Given the description of an element on the screen output the (x, y) to click on. 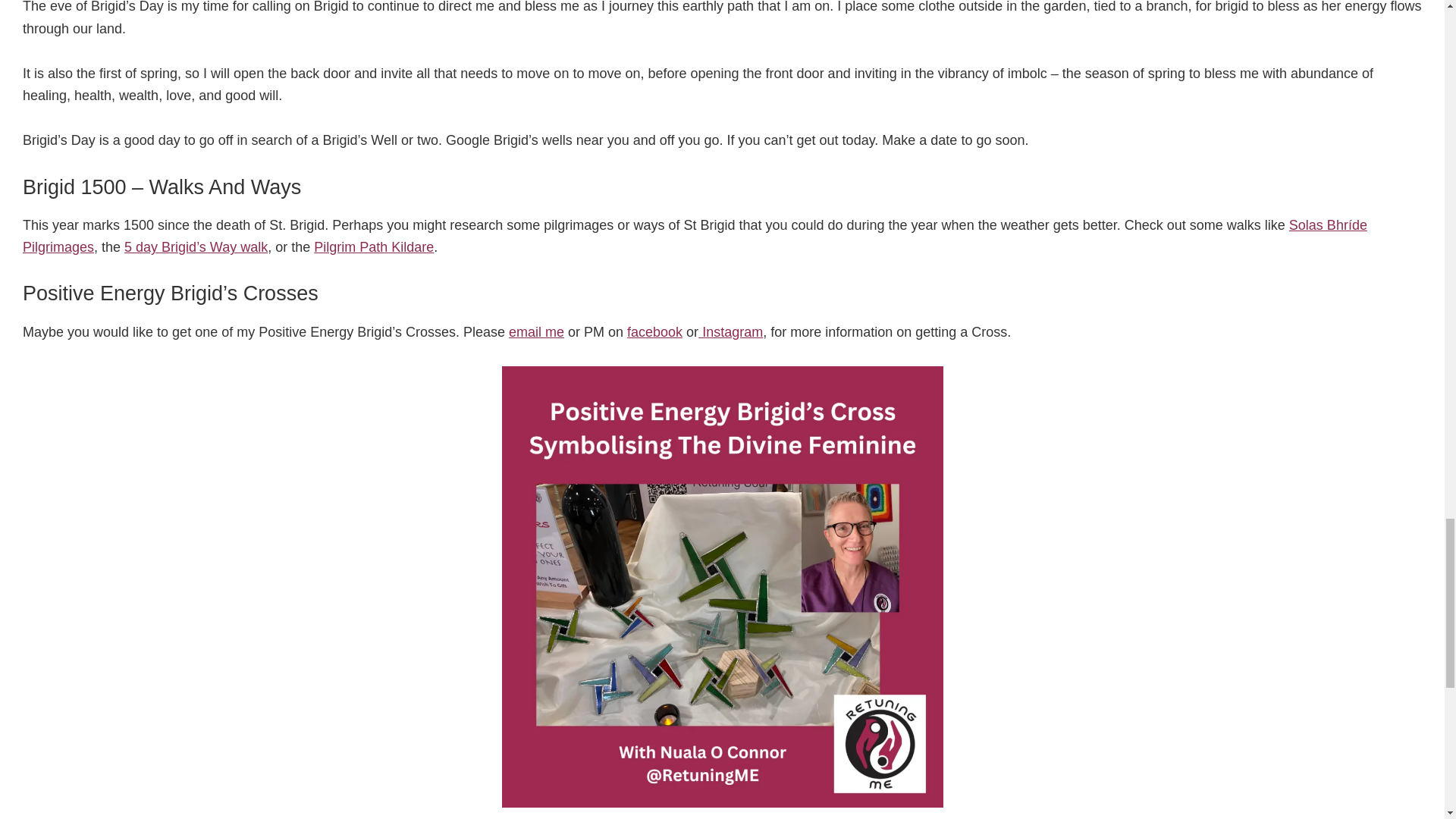
facebook (654, 331)
email me (536, 331)
Pilgrim Path Kildare (373, 246)
